Given the description of an element on the screen output the (x, y) to click on. 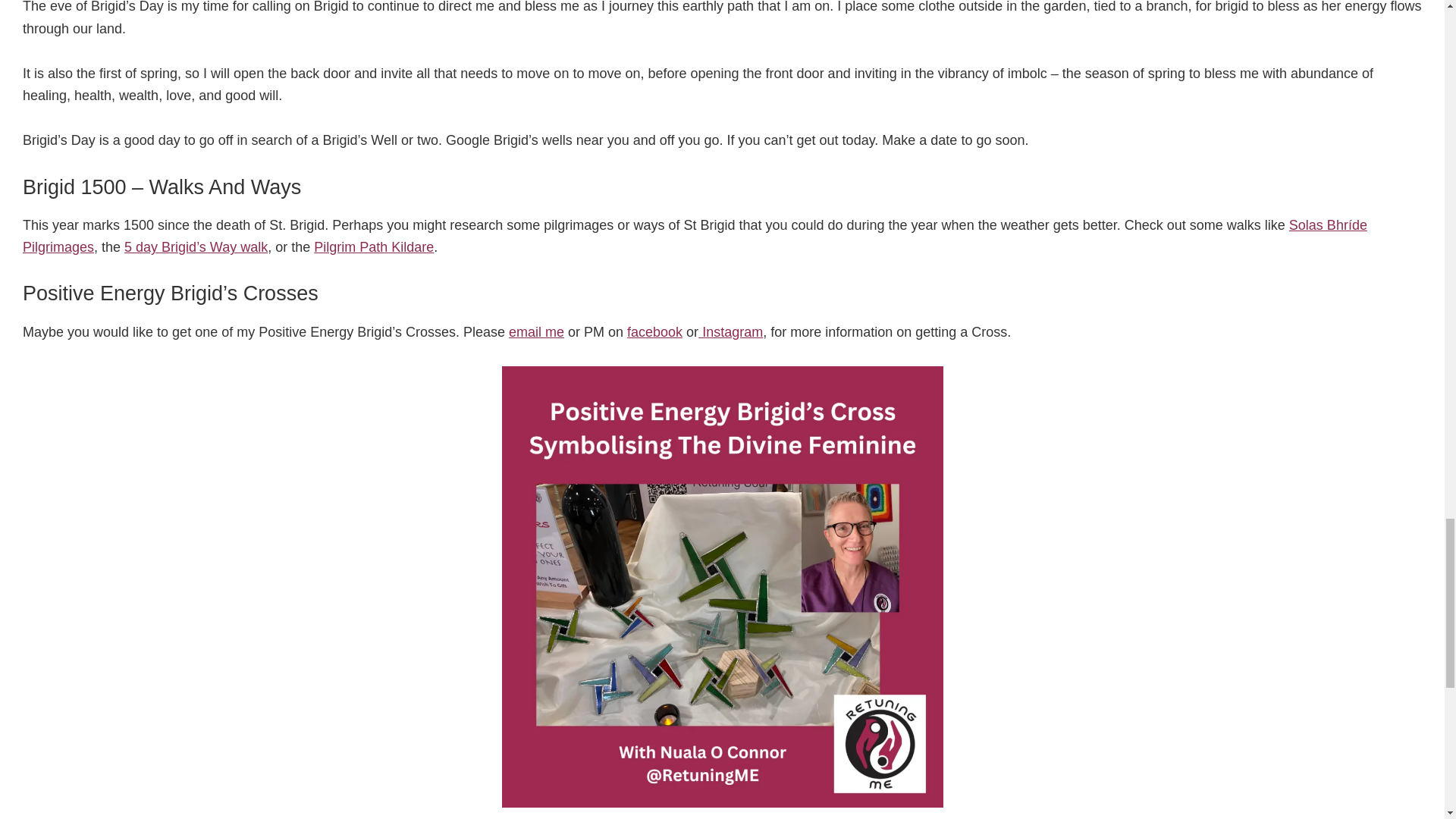
facebook (654, 331)
email me (536, 331)
Pilgrim Path Kildare (373, 246)
